Given the description of an element on the screen output the (x, y) to click on. 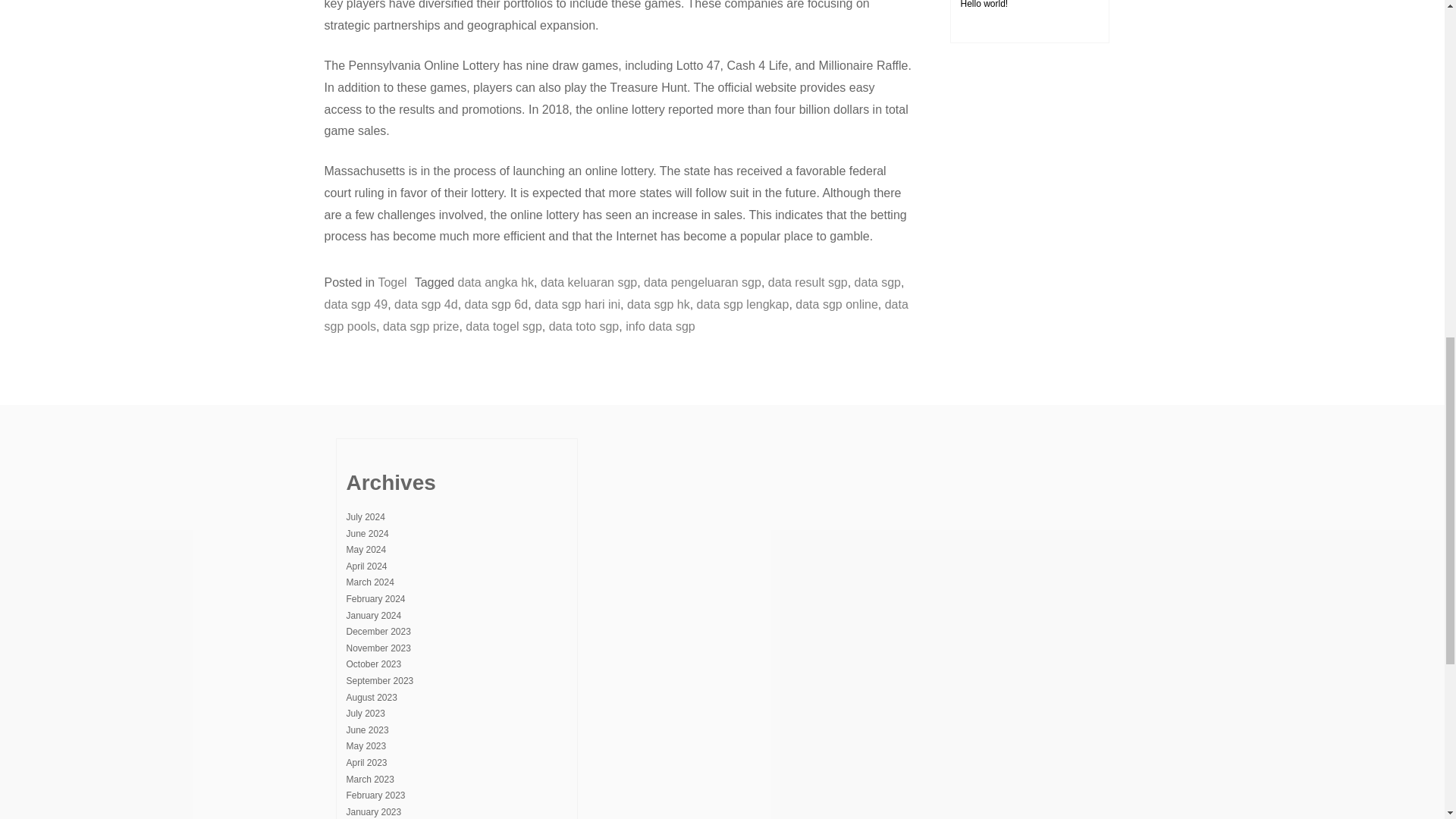
data sgp hk (658, 304)
data toto sgp (584, 326)
Togel (391, 282)
data result sgp (807, 282)
data pengeluaran sgp (702, 282)
info data sgp (660, 326)
data sgp pools (616, 315)
data sgp online (835, 304)
Hello world! (983, 4)
data sgp lengkap (743, 304)
June 2024 (367, 533)
February 2024 (375, 598)
April 2024 (366, 566)
May 2024 (365, 549)
data angka hk (496, 282)
